Given the description of an element on the screen output the (x, y) to click on. 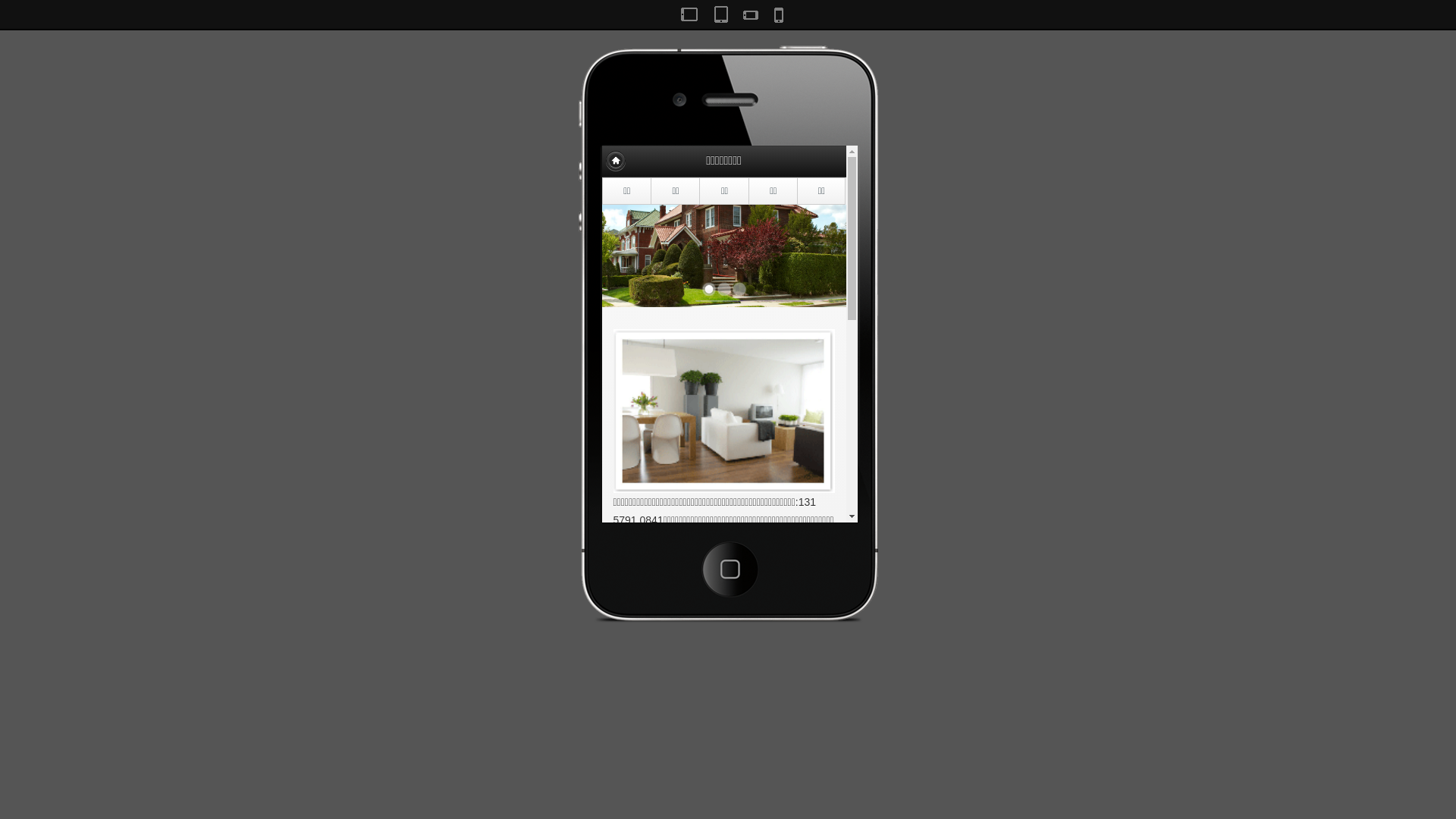
  Element type: text (614, 160)
